Given the description of an element on the screen output the (x, y) to click on. 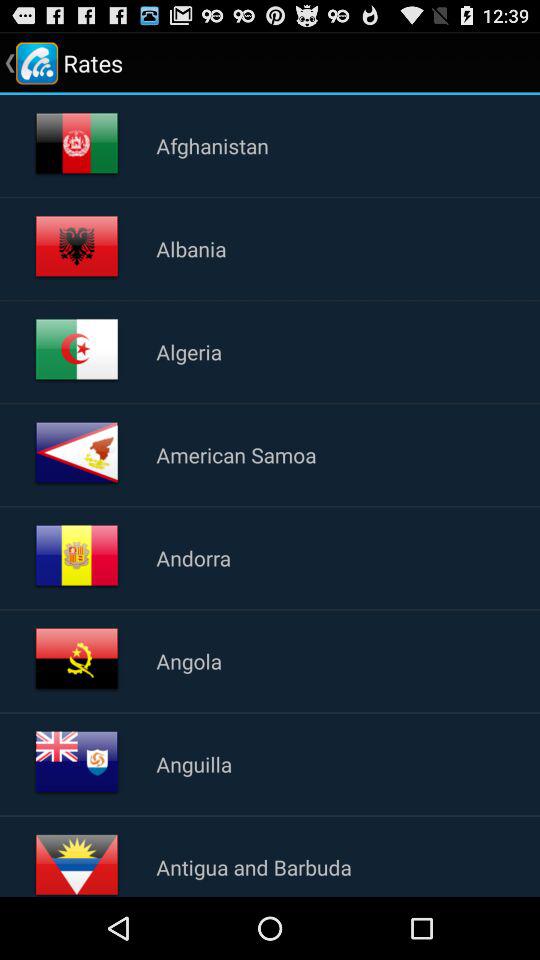
turn on the algeria item (189, 351)
